Given the description of an element on the screen output the (x, y) to click on. 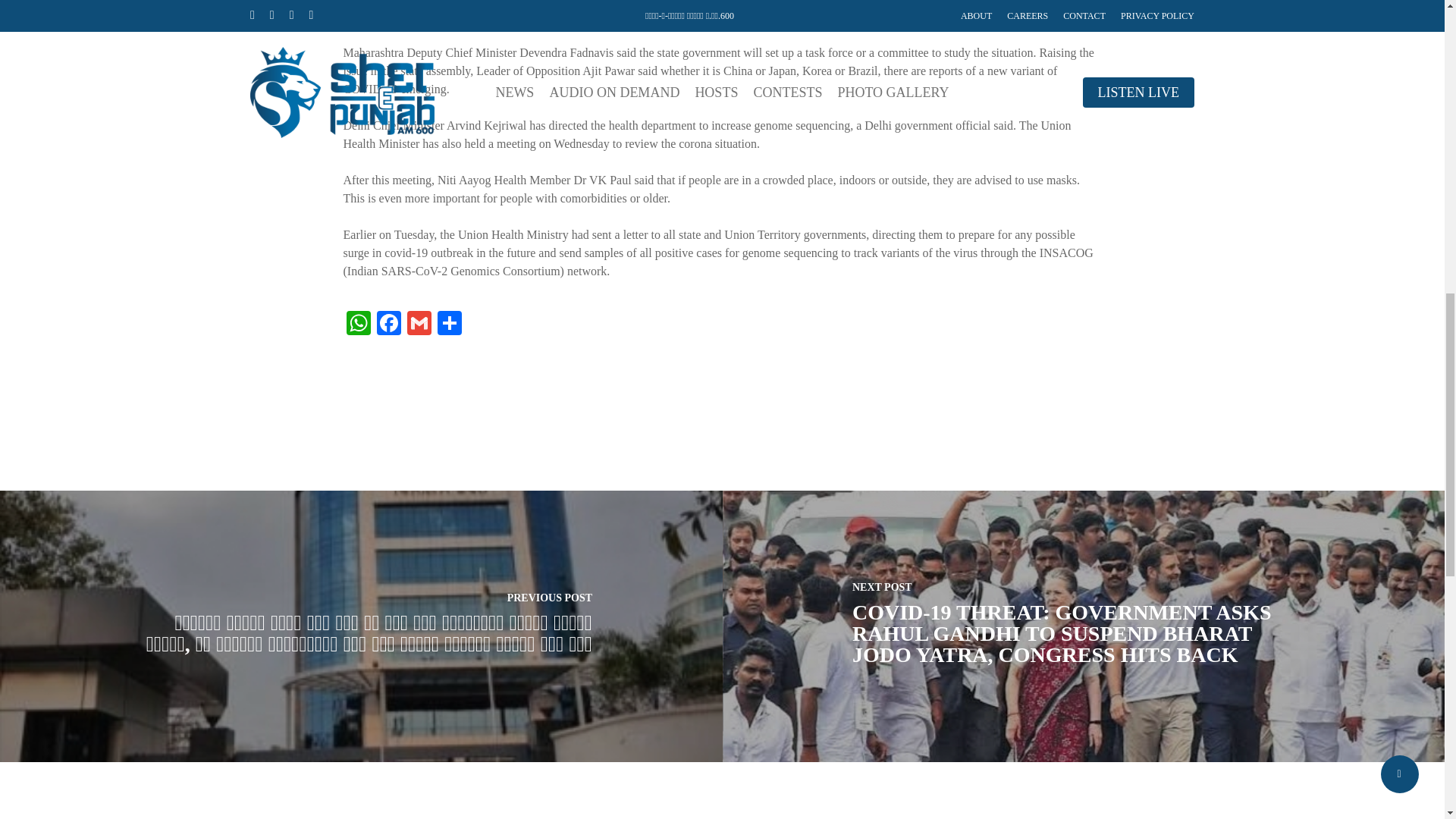
WhatsApp (357, 325)
Share (448, 325)
Gmail (418, 325)
WhatsApp (357, 325)
Gmail (418, 325)
Facebook (387, 325)
Facebook (387, 325)
